Given the description of an element on the screen output the (x, y) to click on. 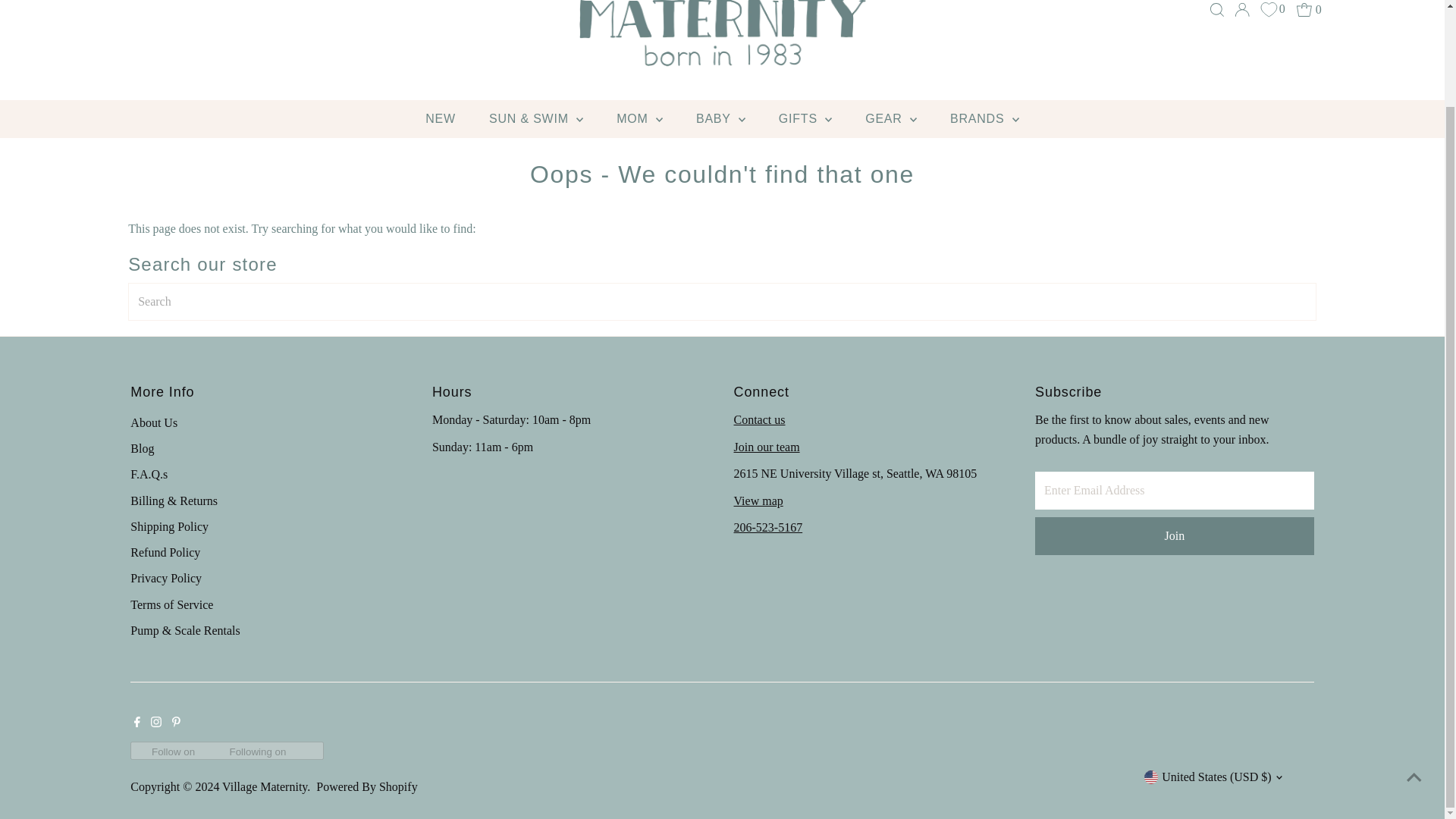
Join Our Team! (766, 446)
0 (1309, 9)
Village Maternity View Map in Google Maps (758, 500)
Contact (759, 419)
0 (1272, 9)
NEW (440, 118)
